Given the description of an element on the screen output the (x, y) to click on. 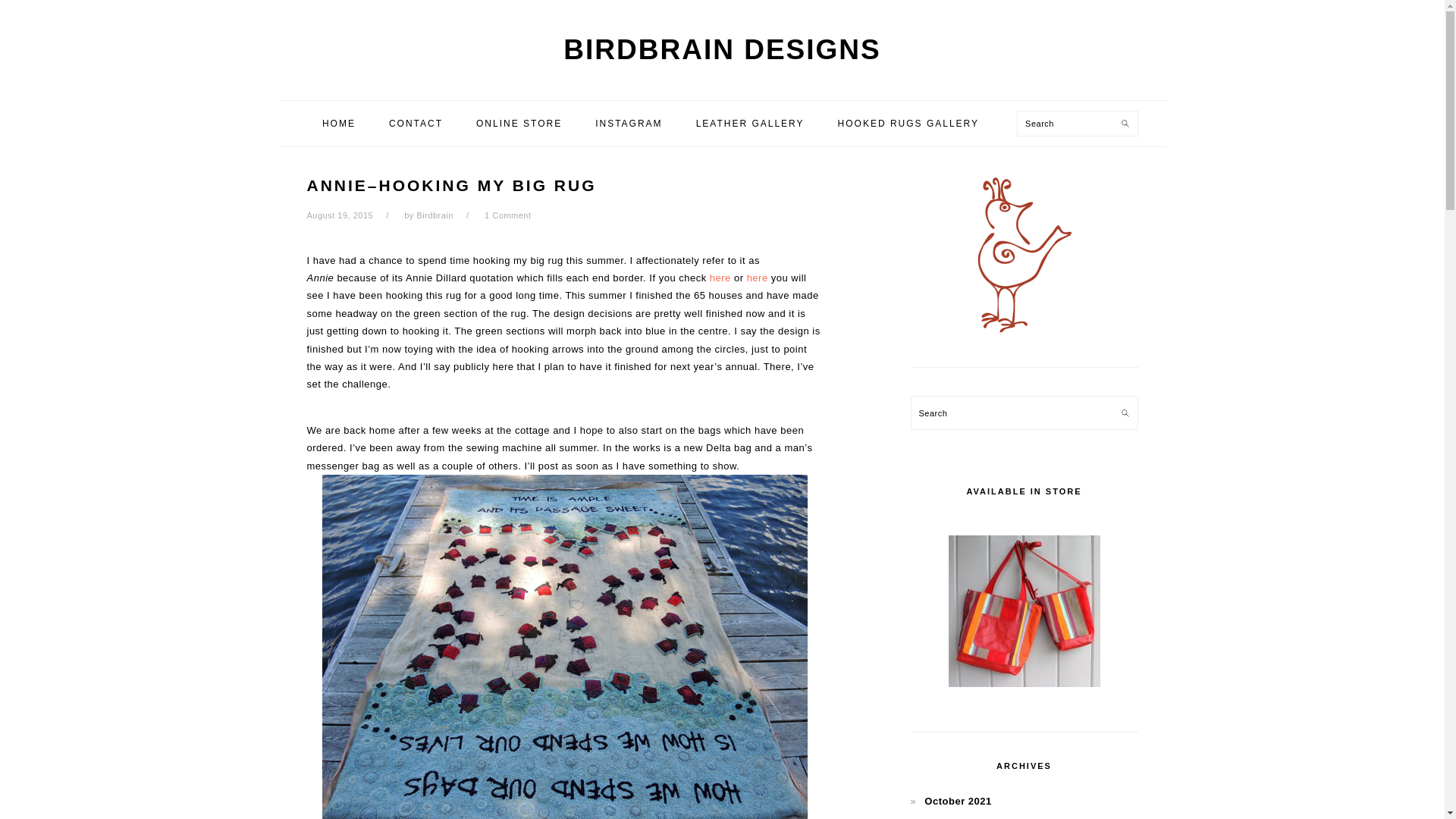
CONTACT (415, 123)
BIRDBRAIN DESIGNS (721, 49)
ONLINE STORE (519, 123)
HOOKED RUGS GALLERY (908, 123)
LEATHER GALLERY (750, 123)
1 Comment (507, 215)
INSTAGRAM (628, 123)
Birdbrain (434, 215)
April 2021 (949, 818)
HOME (338, 123)
